Given the description of an element on the screen output the (x, y) to click on. 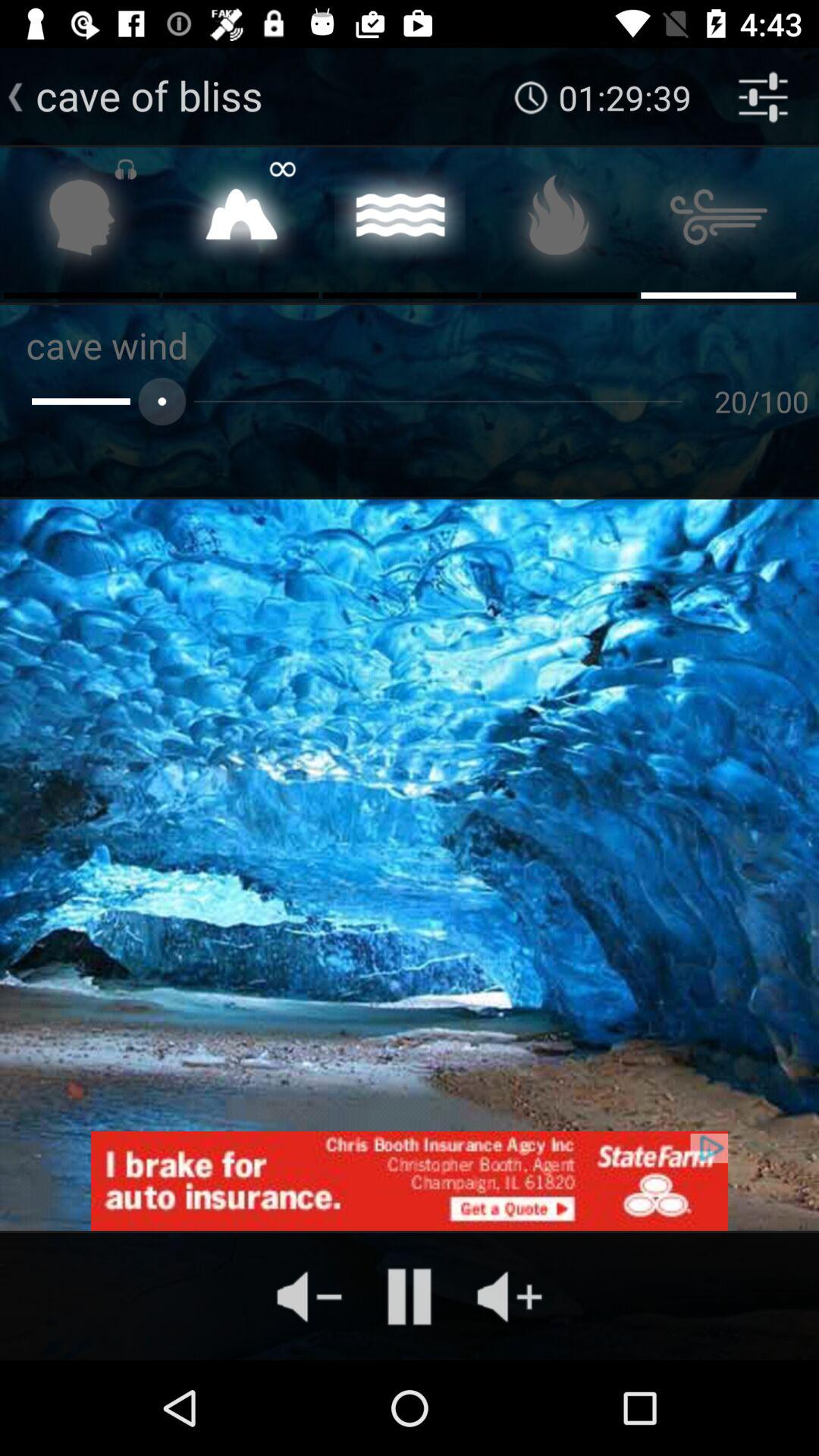
advertisement page (409, 1180)
